Given the description of an element on the screen output the (x, y) to click on. 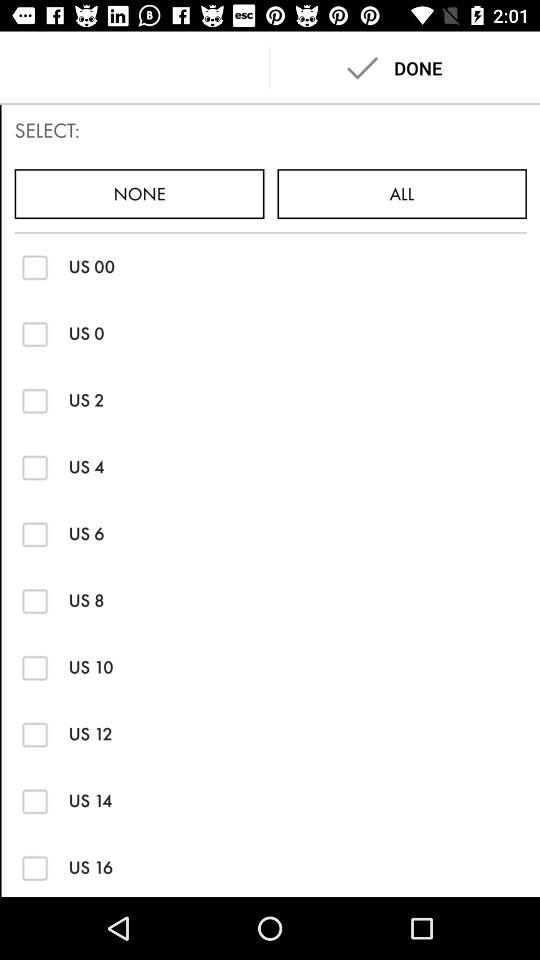
us 12 option (34, 734)
